Given the description of an element on the screen output the (x, y) to click on. 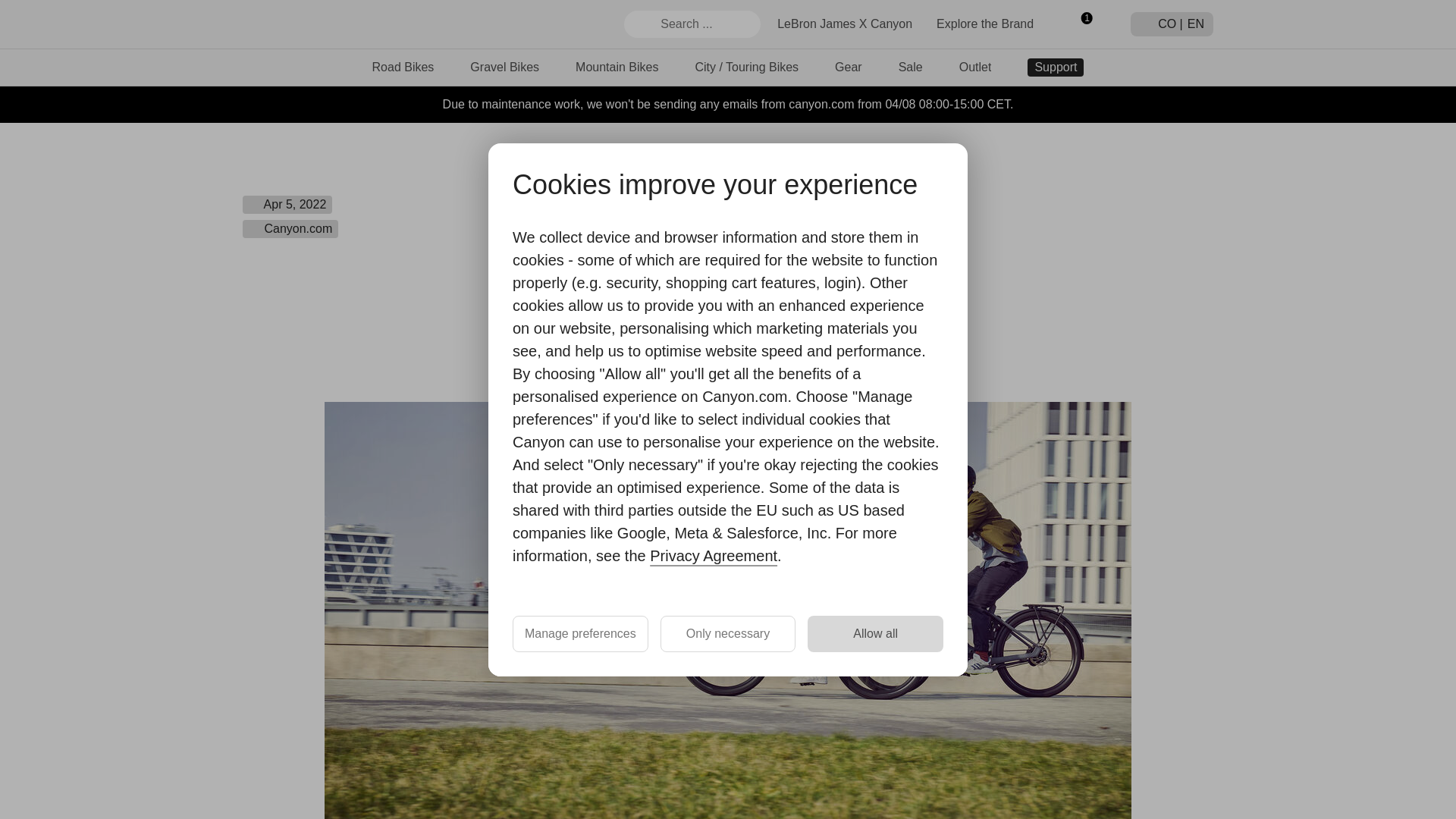
1 (1080, 24)
LeBron James X Canyon (844, 23)
Search ... (692, 23)
Explore the Brand (984, 23)
Road Bikes (402, 67)
Canyon (297, 23)
